Given the description of an element on the screen output the (x, y) to click on. 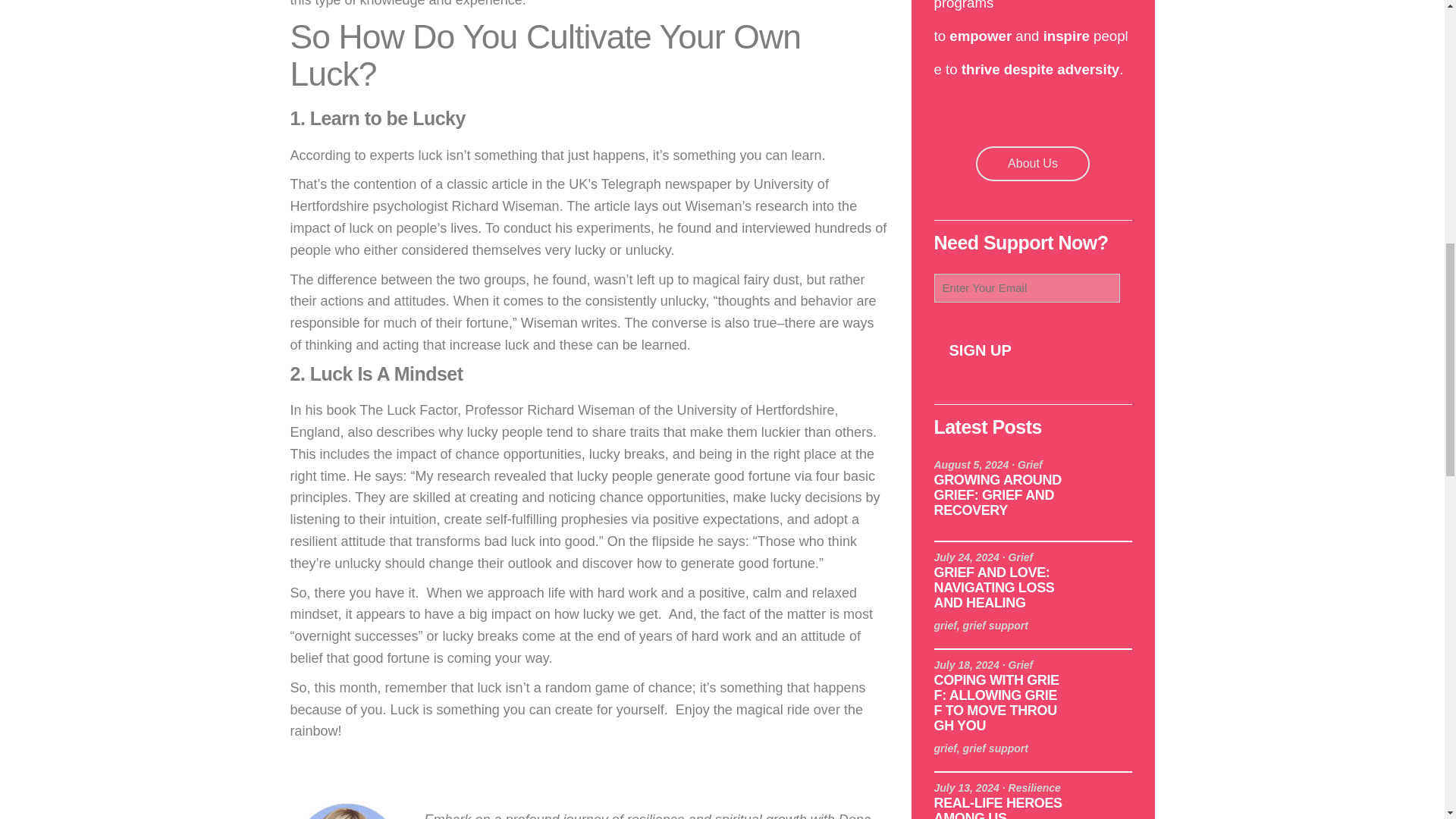
About Us (1032, 163)
GROWING AROUND GRIEF: GRIEF AND RECOVERY (997, 494)
COPING WITH GRIEF: ALLOWING GRIEF TO MOVE THROUGH YOU (996, 702)
REAL-LIFE HEROES AMONG US (998, 807)
GRIEF AND LOVE: NAVIGATING LOSS AND HEALING (994, 587)
Sign Up (980, 349)
Sign Up (980, 349)
